Given the description of an element on the screen output the (x, y) to click on. 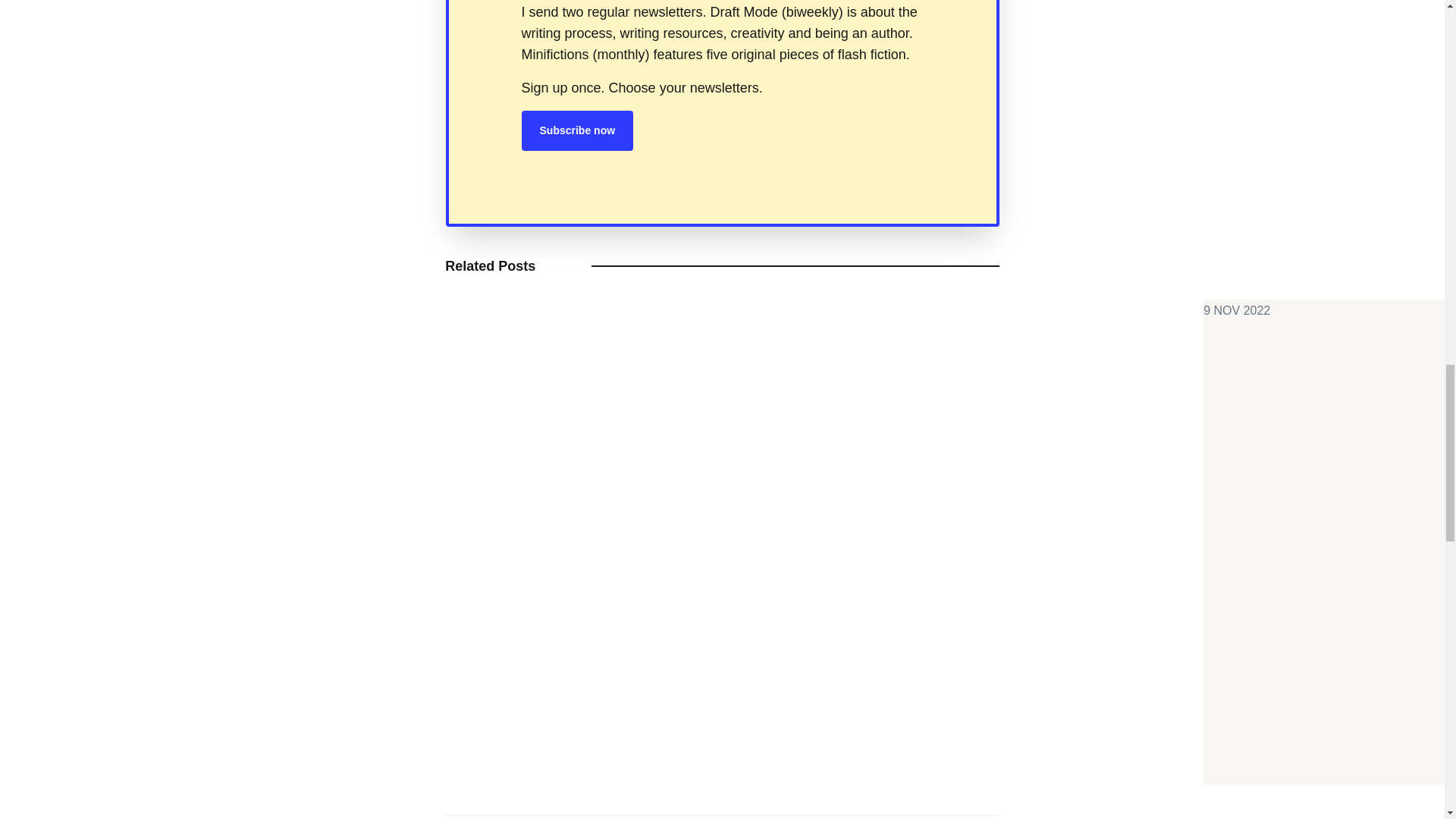
Subscribe now (577, 130)
Read terrible books (1267, 309)
